Given the description of an element on the screen output the (x, y) to click on. 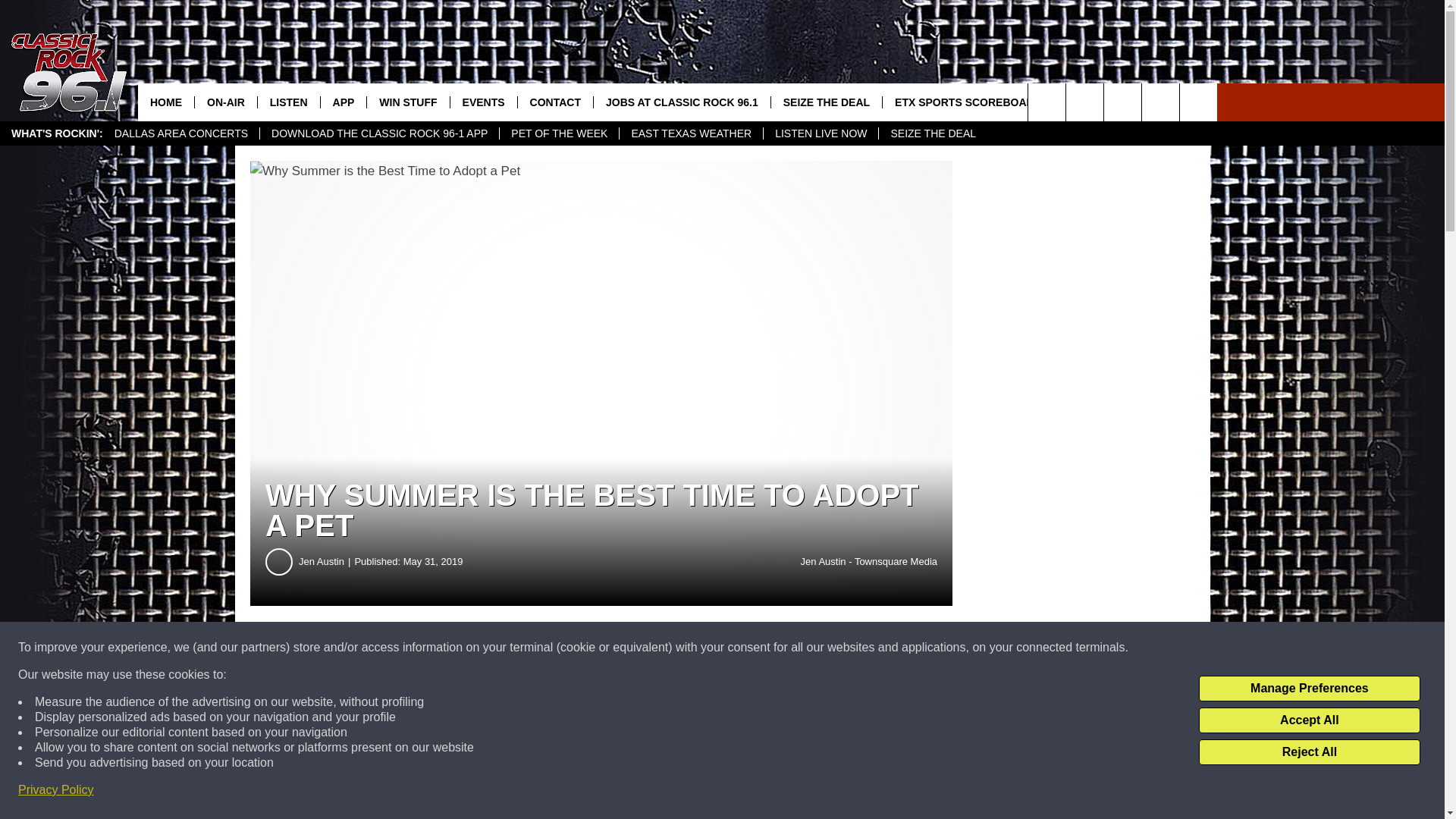
LISTEN (288, 102)
ON-AIR (225, 102)
Manage Preferences (1309, 688)
Accept All (1309, 720)
APP (343, 102)
Privacy Policy (55, 789)
WIN STUFF (407, 102)
HOME (165, 102)
Share on Facebook (460, 647)
DALLAS AREA CONCERTS (181, 133)
SEIZE THE DEAL (932, 133)
DOWNLOAD THE CLASSIC ROCK 96-1 APP (379, 133)
Share on Twitter (741, 647)
LISTEN LIVE NOW (819, 133)
EAST TEXAS WEATHER (690, 133)
